Given the description of an element on the screen output the (x, y) to click on. 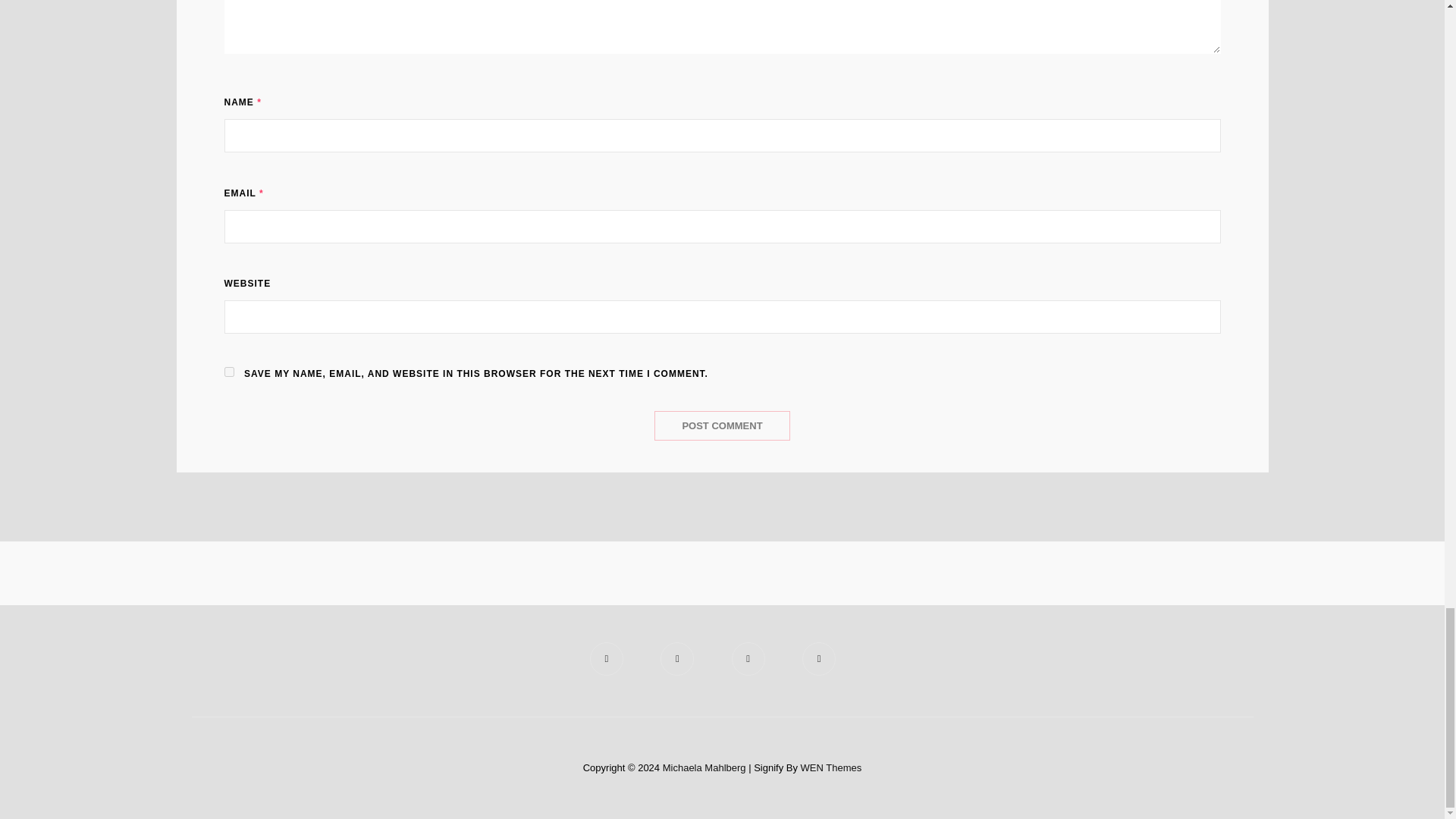
yes (229, 371)
Post Comment (721, 425)
WEN Themes (830, 767)
Post Comment (721, 425)
Michaela Mahlberg (703, 767)
